Given the description of an element on the screen output the (x, y) to click on. 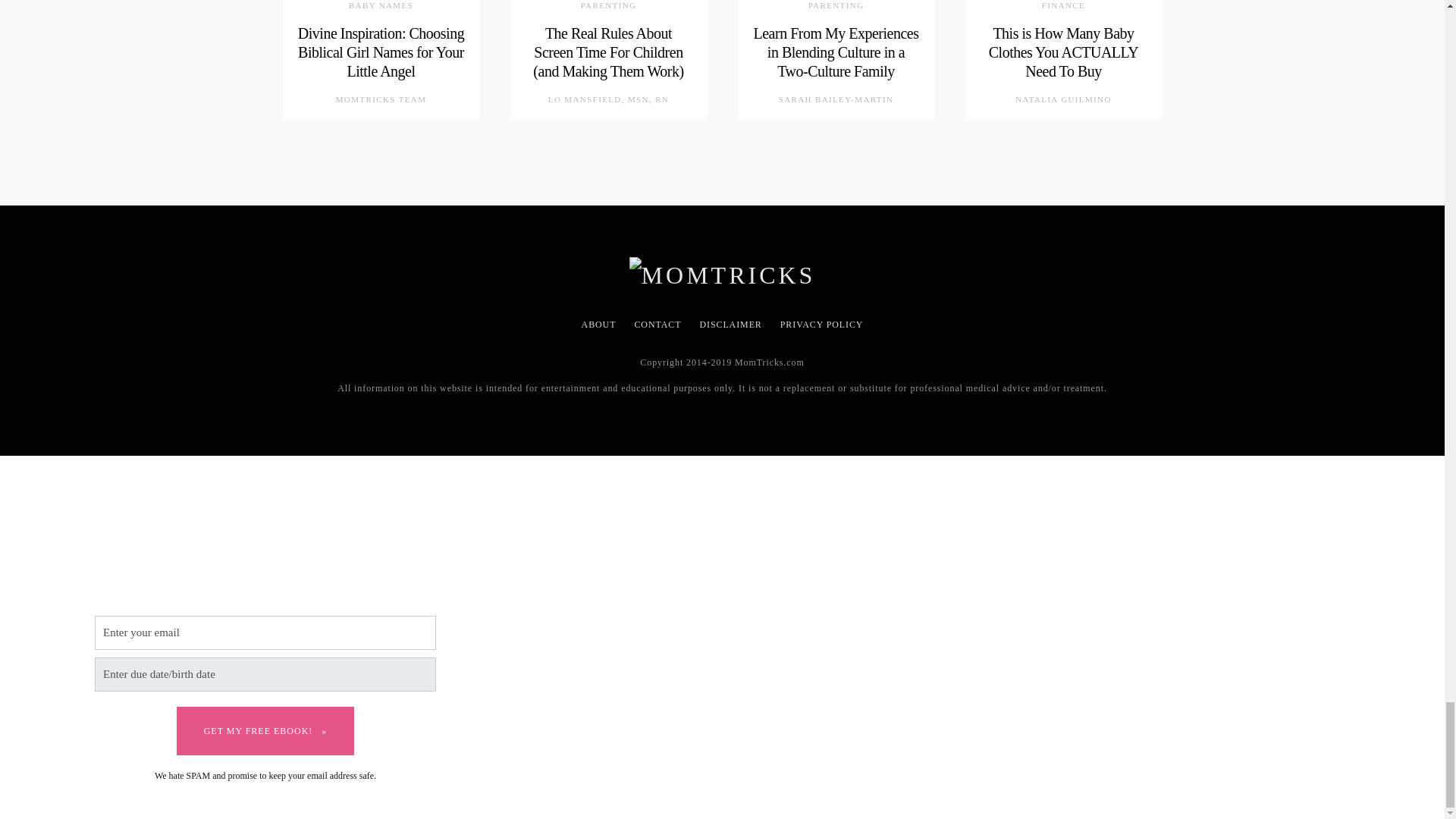
This is How Many Baby Clothes You ACTUALLY Need To Buy (1063, 52)
View all posts by MomTricks Team (381, 99)
Enter your email (264, 632)
View all posts by Sarah Bailey-Martin (835, 99)
View all posts by Lo Mansfield, MSN, RN (608, 99)
